Given the description of an element on the screen output the (x, y) to click on. 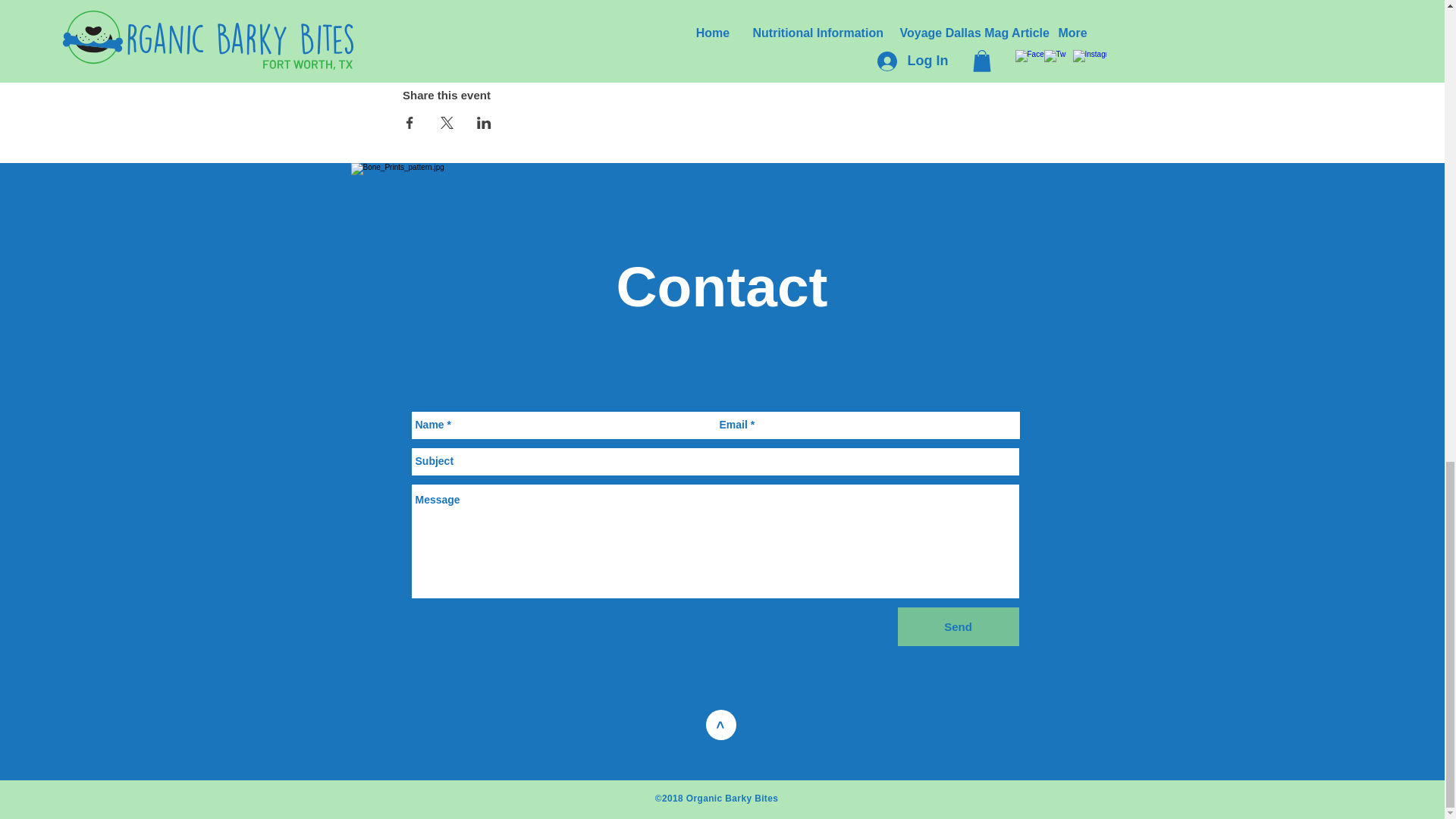
Send (958, 626)
